Given the description of an element on the screen output the (x, y) to click on. 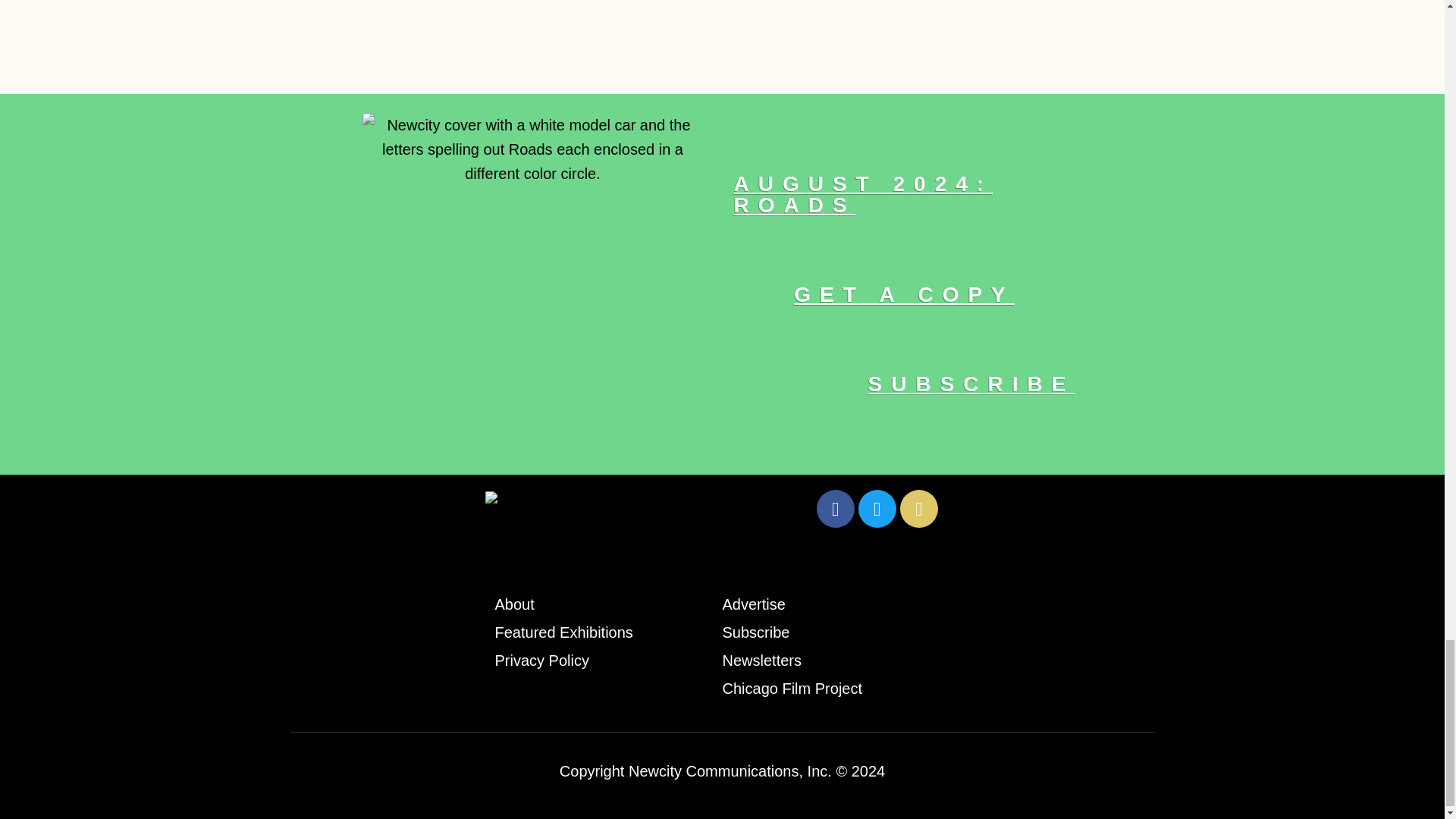
NewcityLogo.png (548, 503)
